Given the description of an element on the screen output the (x, y) to click on. 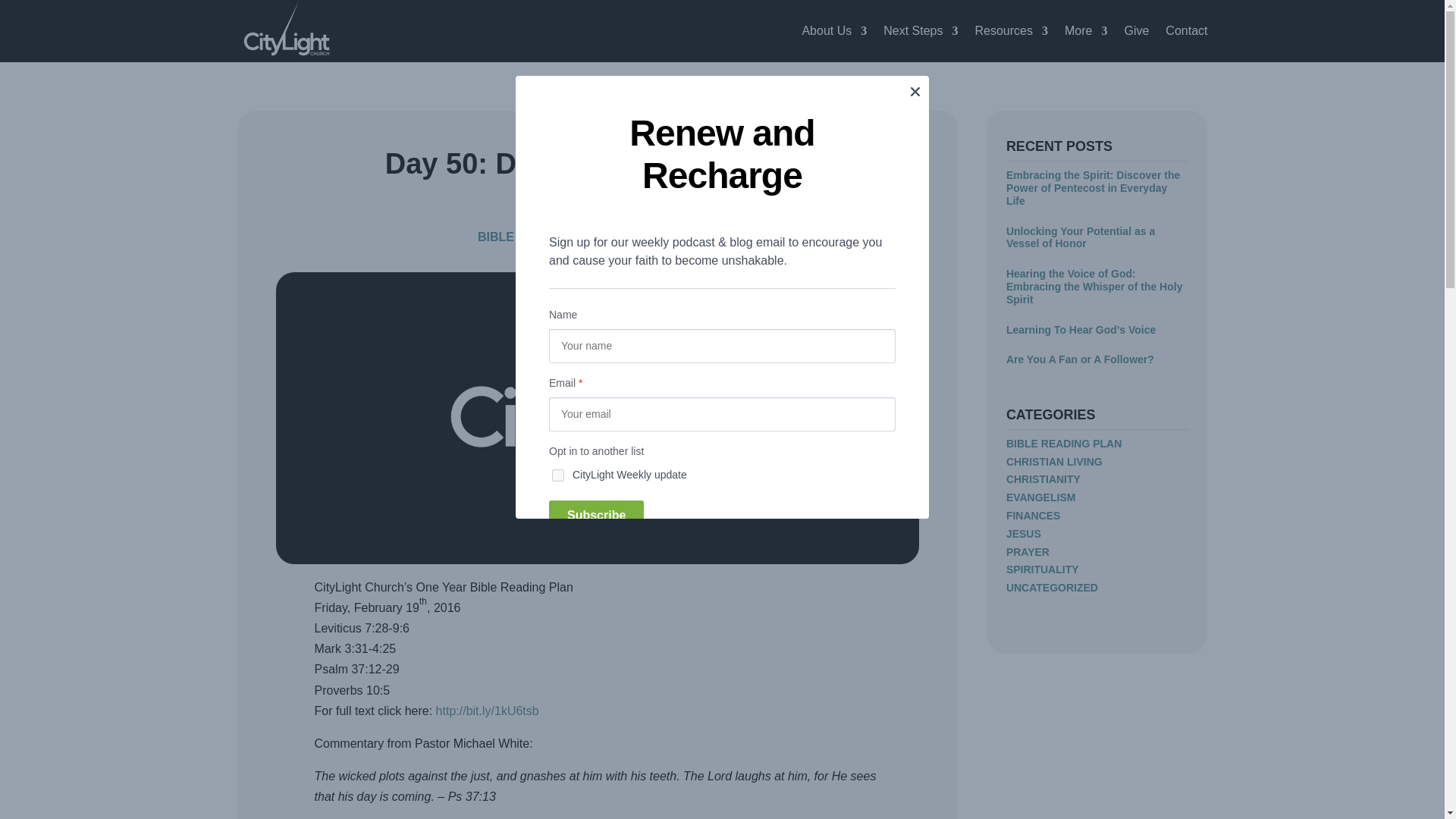
About Us (834, 31)
Next Steps (920, 31)
Resources (1011, 31)
